Given the description of an element on the screen output the (x, y) to click on. 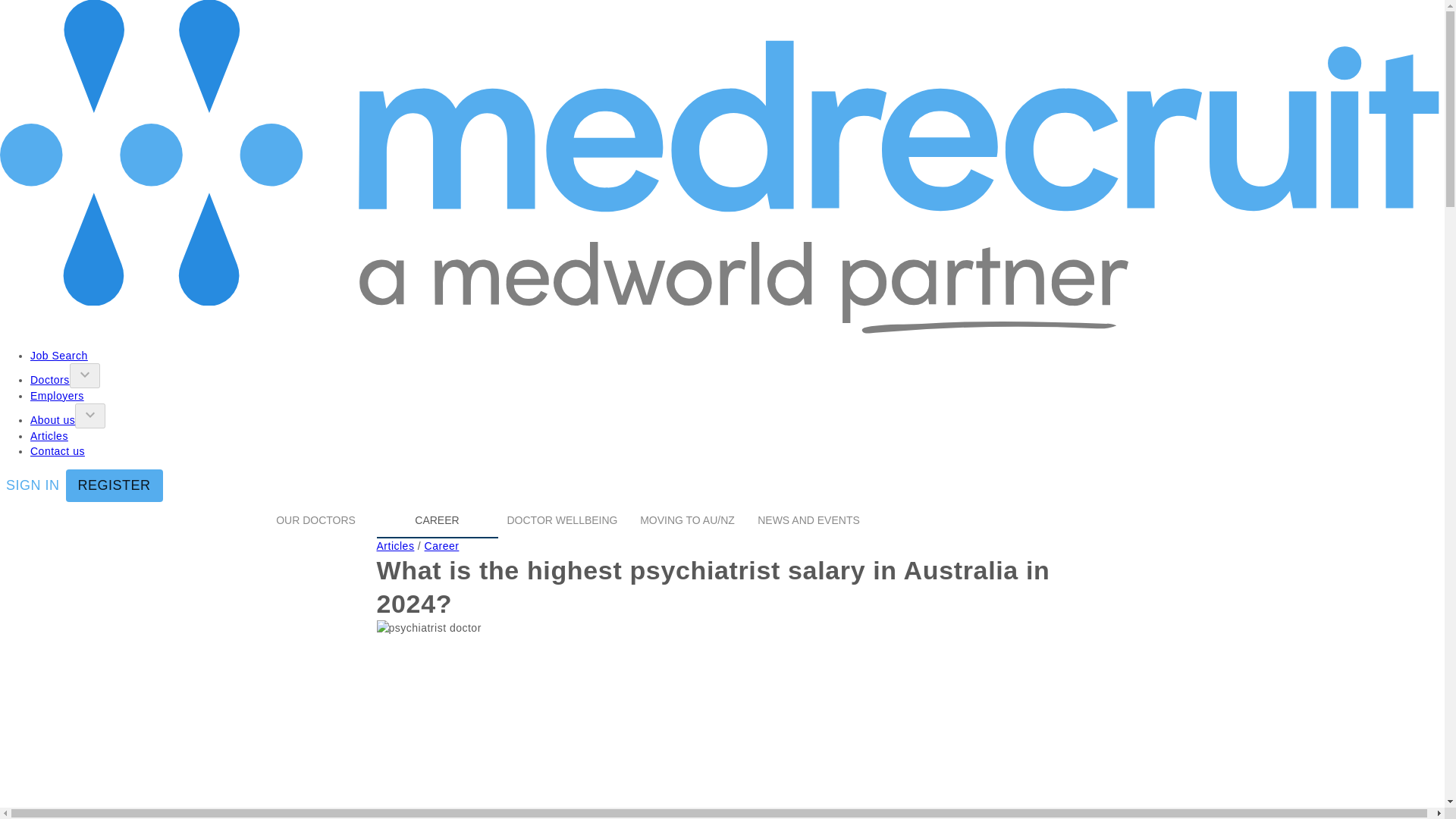
Articles (49, 435)
SIGN IN (32, 485)
Articles (394, 545)
REGISTER (114, 485)
DOCTOR WELLBEING (561, 520)
Doctors (49, 379)
Career (442, 545)
CAREER (436, 520)
Employers (57, 395)
OUR DOCTORS (314, 520)
NEWS AND EVENTS (808, 520)
Job Search (58, 355)
About us (52, 419)
Contact us (57, 451)
